Given the description of an element on the screen output the (x, y) to click on. 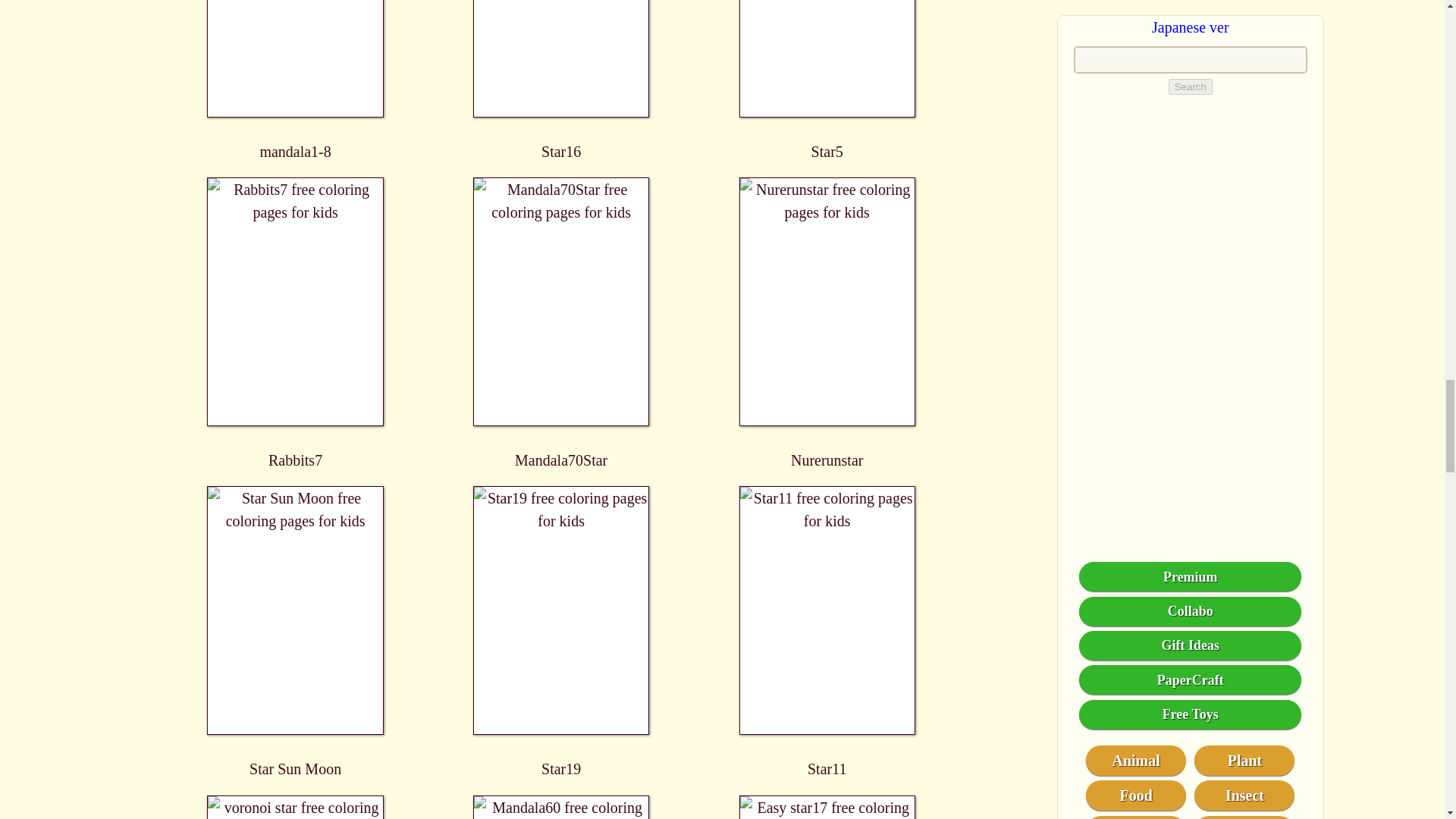
Easy star17 (826, 807)
Mandala60 (561, 807)
mandala1-8 (295, 79)
Star5 (826, 79)
Star16 (561, 79)
voronoi star (295, 807)
